Given the description of an element on the screen output the (x, y) to click on. 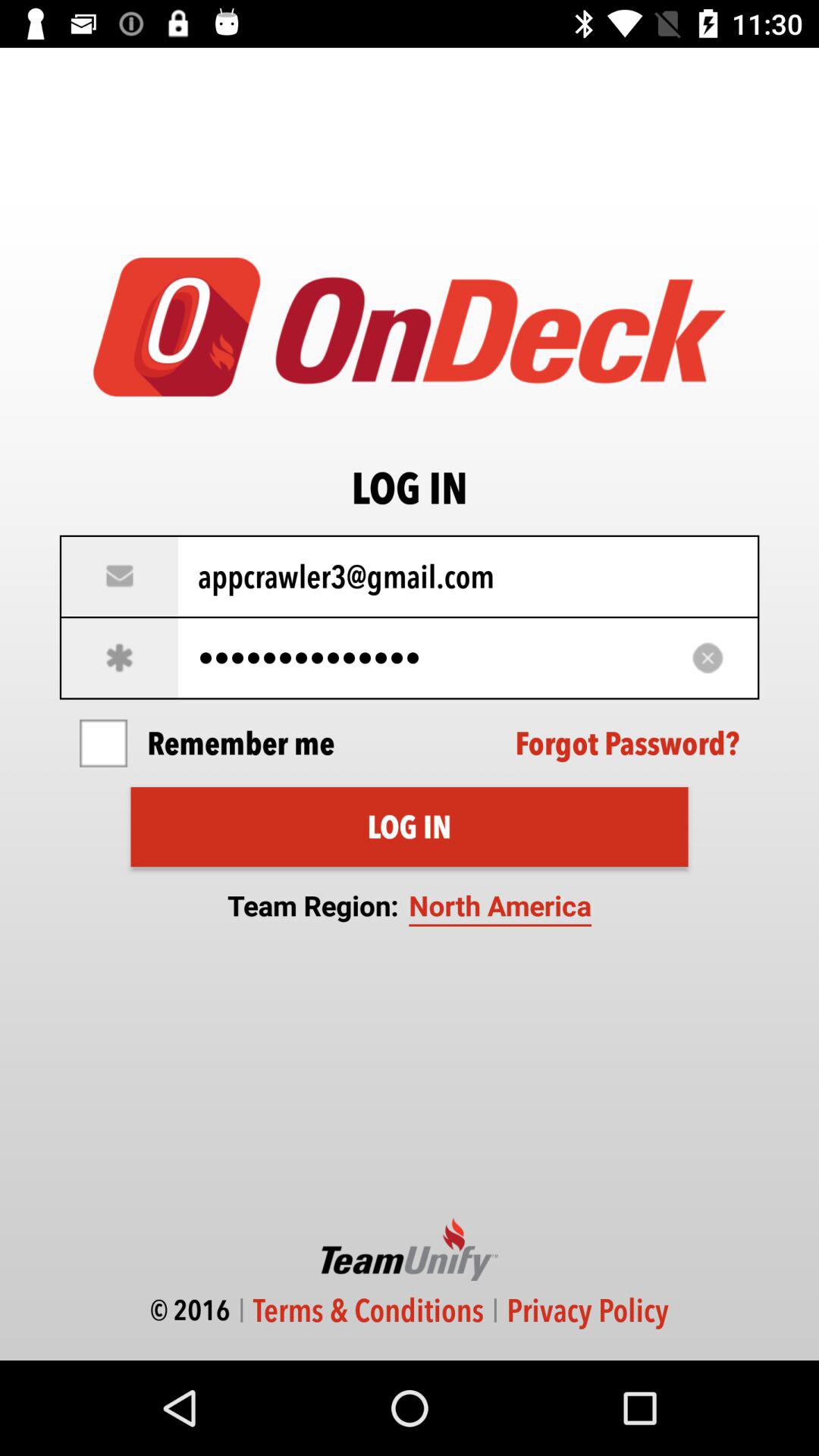
toggle remember me option (103, 743)
